Given the description of an element on the screen output the (x, y) to click on. 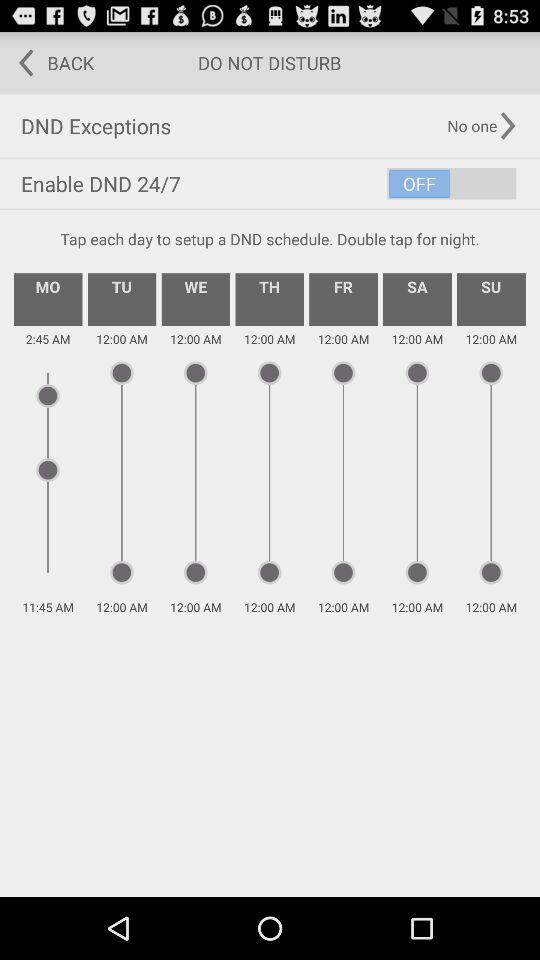
tap the mo icon (47, 299)
